Given the description of an element on the screen output the (x, y) to click on. 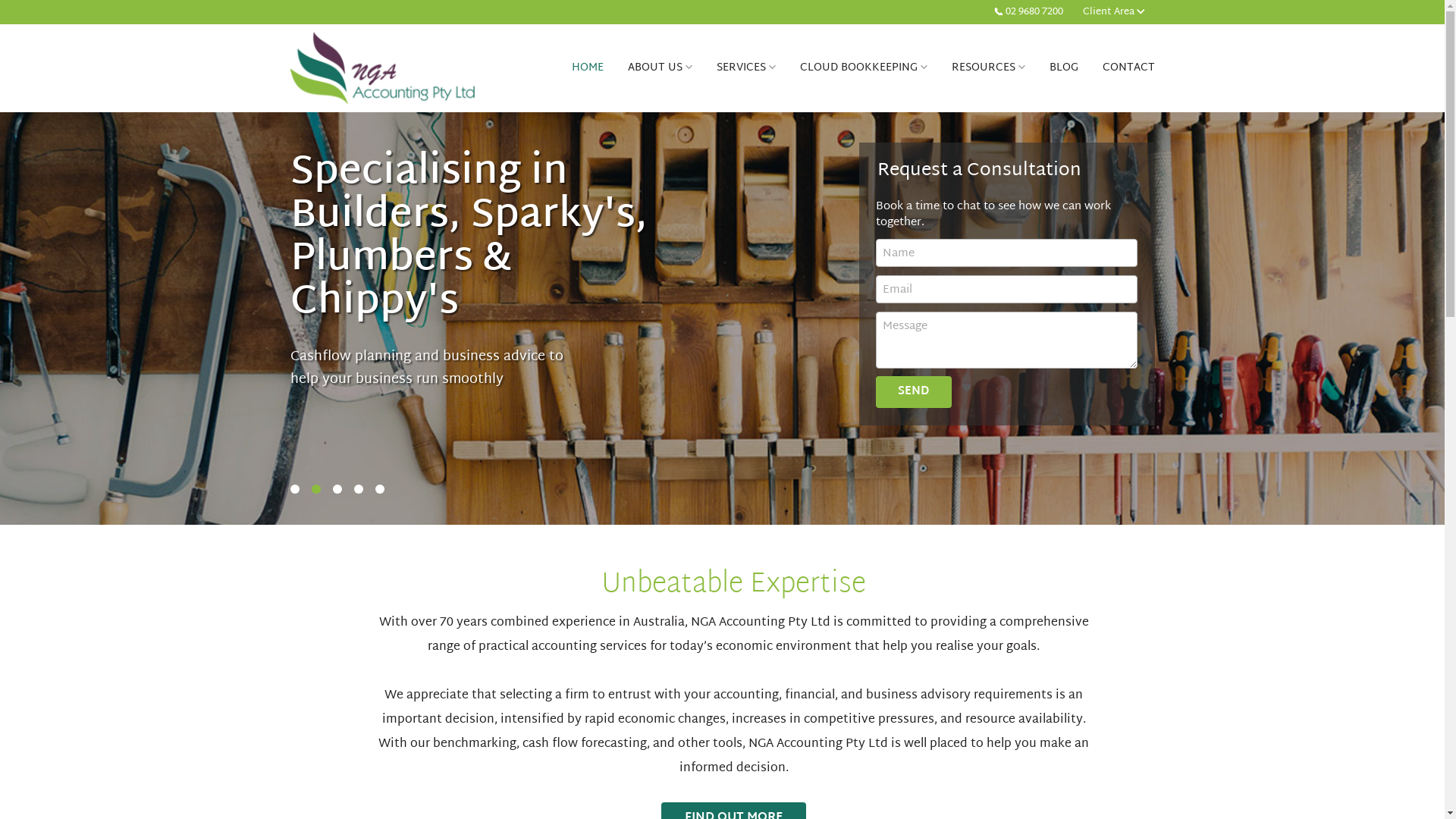
ABOUT US  Element type: text (659, 67)
RESOURCES  Element type: text (988, 67)
CONTACT Element type: text (1128, 67)
02 9680 7200 Element type: text (1028, 12)
BLOG Element type: text (1063, 67)
CLOUD BOOKKEEPING  Element type: text (863, 67)
HOME Element type: text (587, 67)
SERVICES  Element type: text (745, 67)
Send Element type: text (913, 391)
Client Area Element type: text (1113, 11)
